Given the description of an element on the screen output the (x, y) to click on. 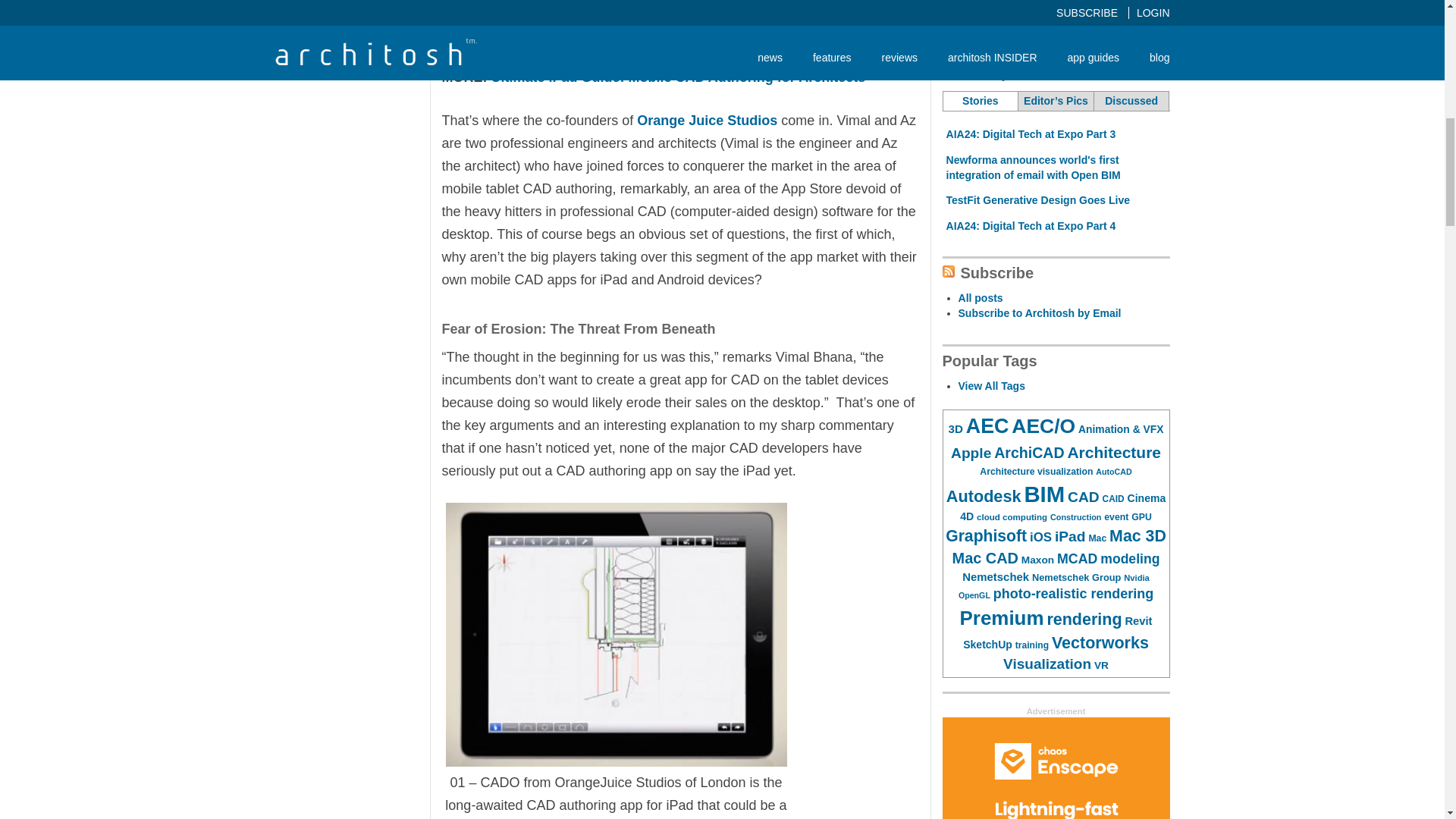
Orange Juice Studios (707, 120)
Ultimate iPad Guide: Mobile CAD Authoring for Architects (679, 77)
